Given the description of an element on the screen output the (x, y) to click on. 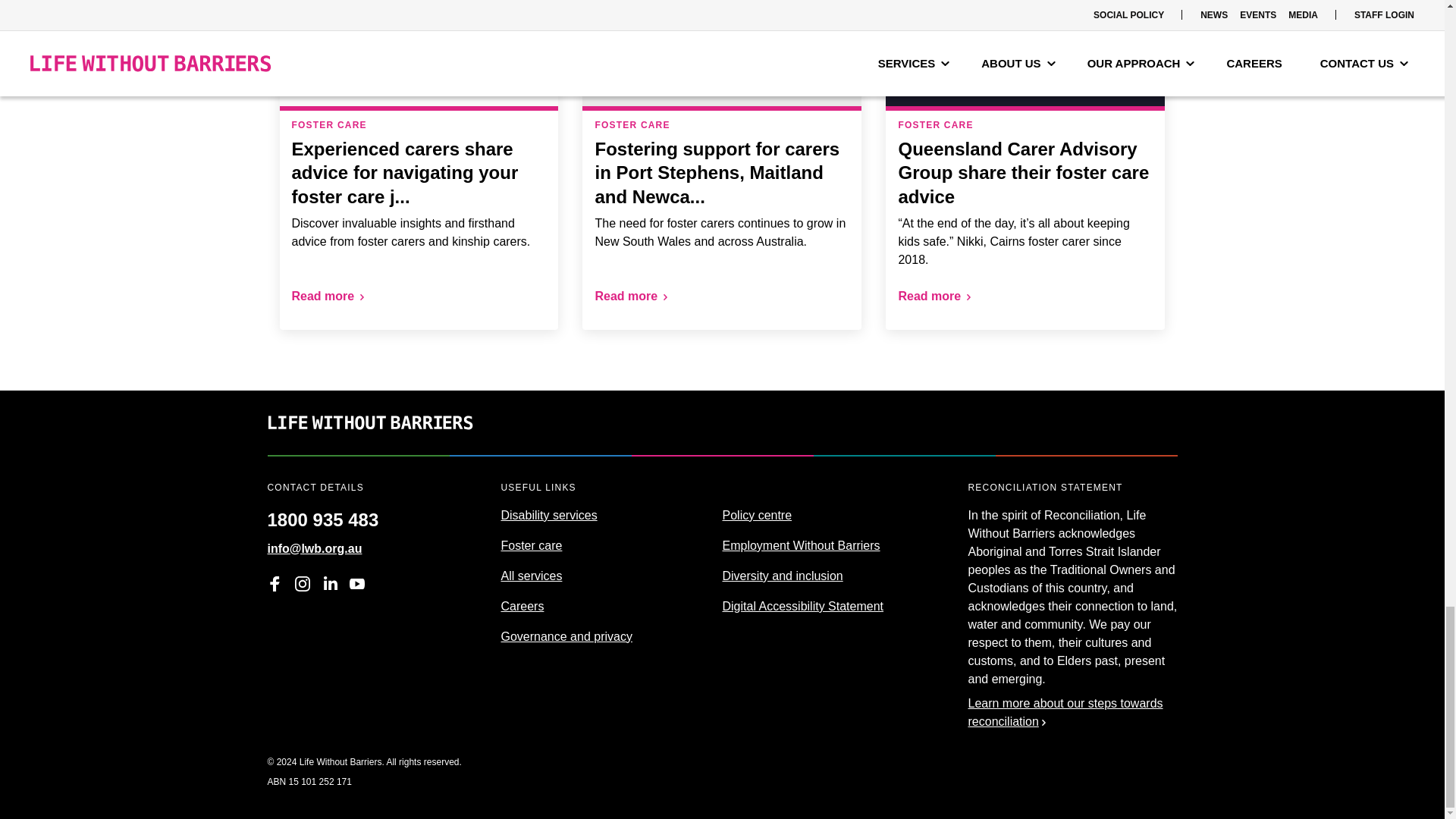
Life Without Barriers home page (368, 445)
Foster care (531, 545)
Disability services (548, 514)
1800 935 483 (322, 513)
